Given the description of an element on the screen output the (x, y) to click on. 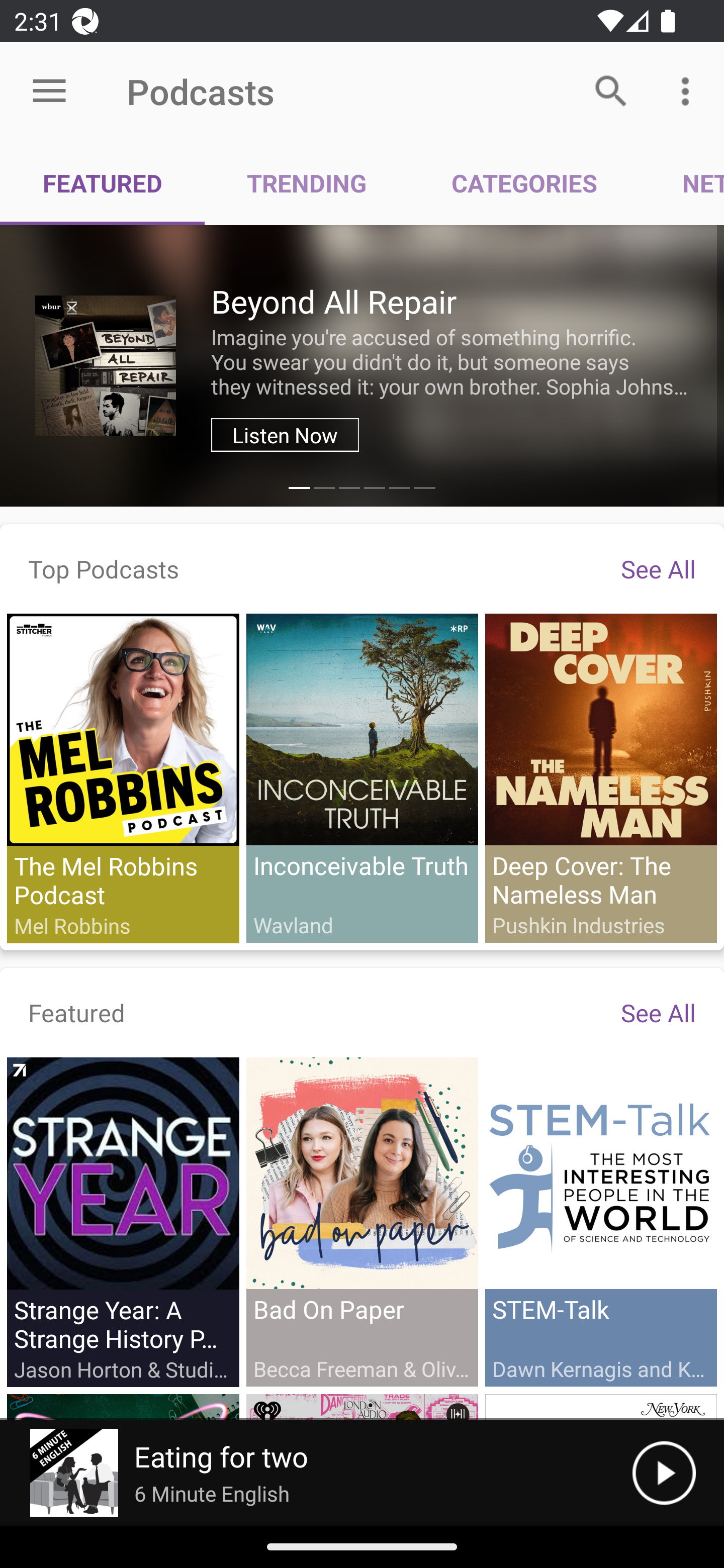
Open menu (49, 91)
Search (611, 90)
More options (688, 90)
FEATURED (102, 183)
TRENDING (306, 183)
CATEGORIES (524, 183)
Top Podcasts (103, 567)
See All (658, 567)
The Mel Robbins Podcast Mel Robbins (123, 778)
Inconceivable Truth Wavland (361, 777)
Deep Cover: The Nameless Man Pushkin Industries (600, 777)
Featured (76, 1011)
See All (658, 1011)
Bad On Paper Becca Freeman & Olivia Muenter (361, 1221)
STEM-Talk Dawn Kernagis and Ken Ford (600, 1221)
Picture Eating for two 6 Minute English (316, 1472)
Play (663, 1472)
